Given the description of an element on the screen output the (x, y) to click on. 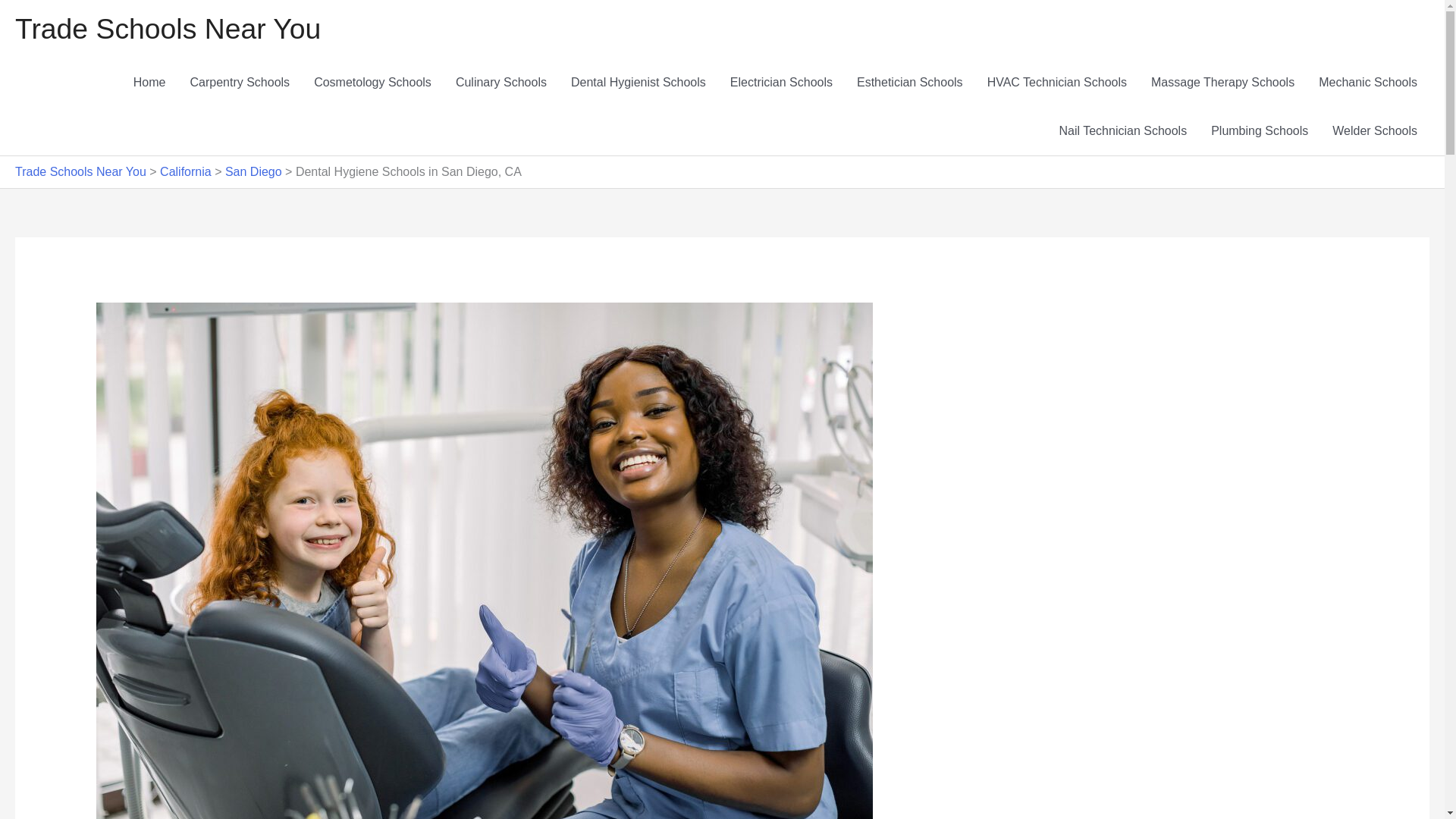
Culinary Schools (501, 82)
Plumbing Schools (1259, 131)
HVAC Technician Schools (1056, 82)
Trade Schools Near You (80, 171)
Go to the California category archives. (185, 171)
Home (148, 82)
Electrician Schools (780, 82)
Cosmetology Schools (372, 82)
Dental Hygienist Schools (638, 82)
Carpentry Schools (239, 82)
Massage Therapy Schools (1222, 82)
California (185, 171)
San Diego (253, 171)
Esthetician Schools (909, 82)
Nail Technician Schools (1122, 131)
